Given the description of an element on the screen output the (x, y) to click on. 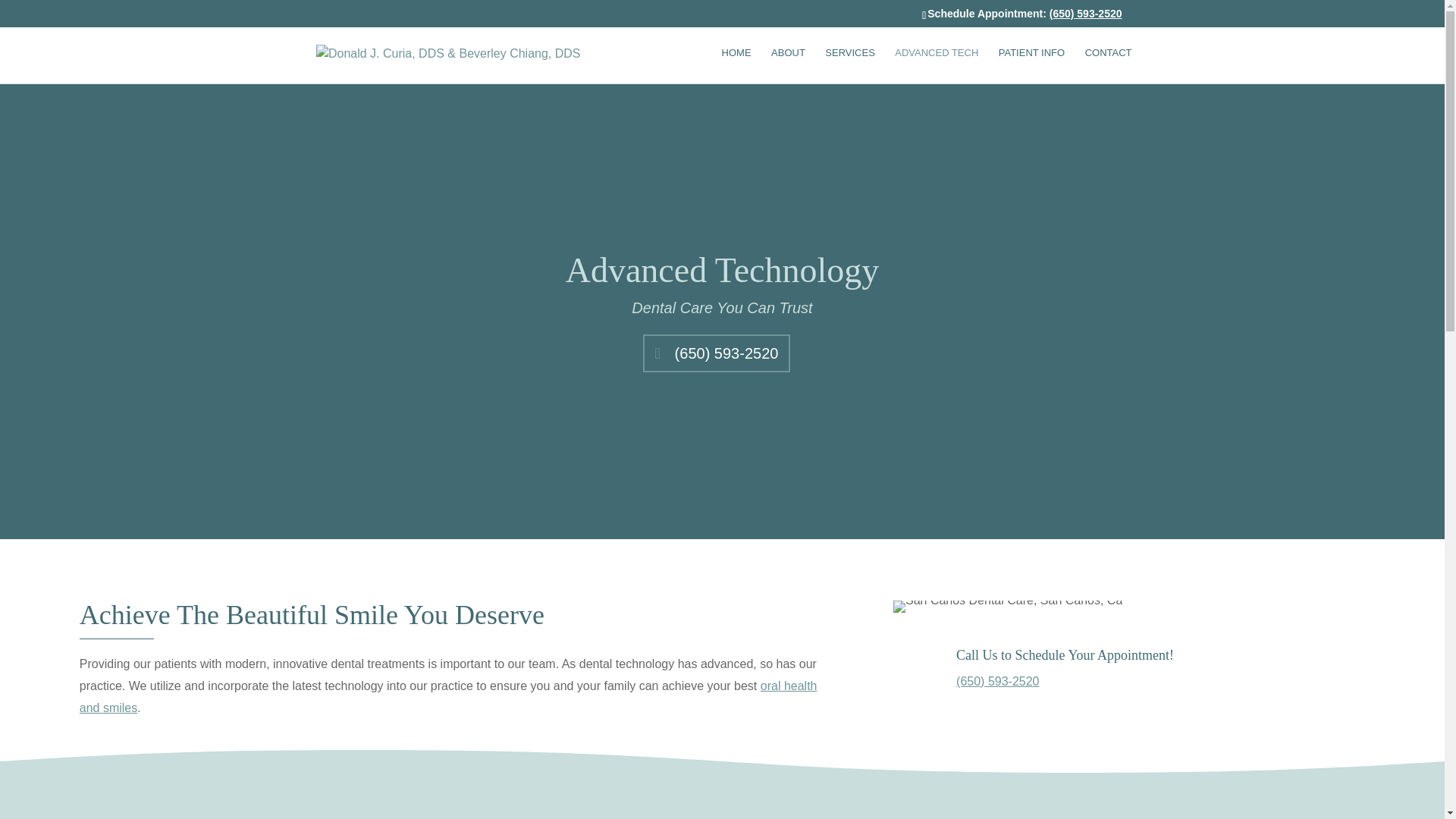
PATIENT INFO (1031, 65)
oral health and smiles (448, 696)
ADVANCED TECH (936, 65)
SERVICES (850, 65)
CONTACT (1108, 65)
ABOUT (788, 65)
